Given the description of an element on the screen output the (x, y) to click on. 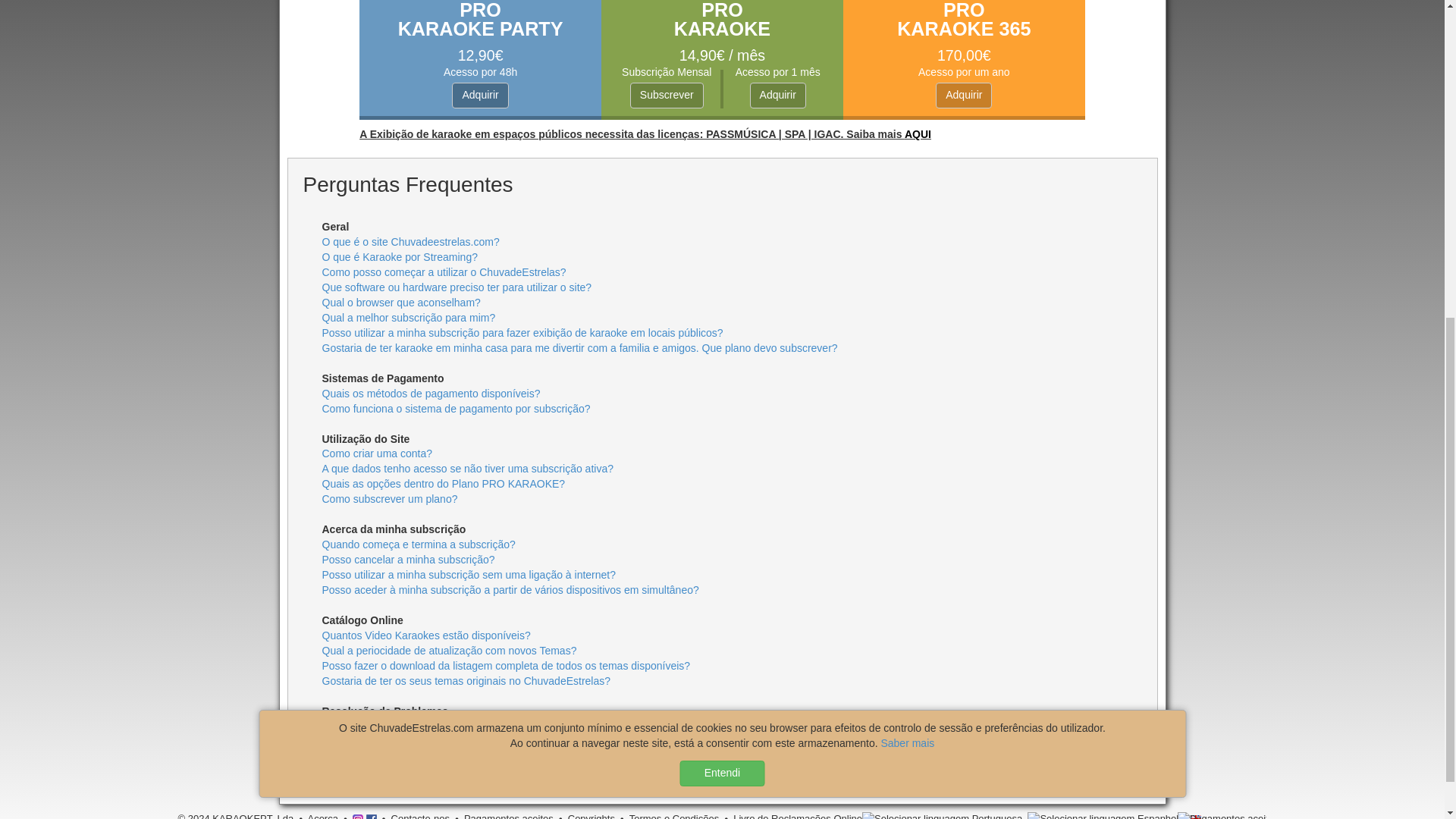
Como criar uma conta? (376, 453)
Que software ou hardware preciso ter para utilizar o site? (456, 287)
Adquirir (963, 95)
Subscrever (666, 95)
AQUI (917, 133)
Adquirir (479, 95)
Qual o browser que aconselham? (400, 302)
Adquirir (777, 95)
